Given the description of an element on the screen output the (x, y) to click on. 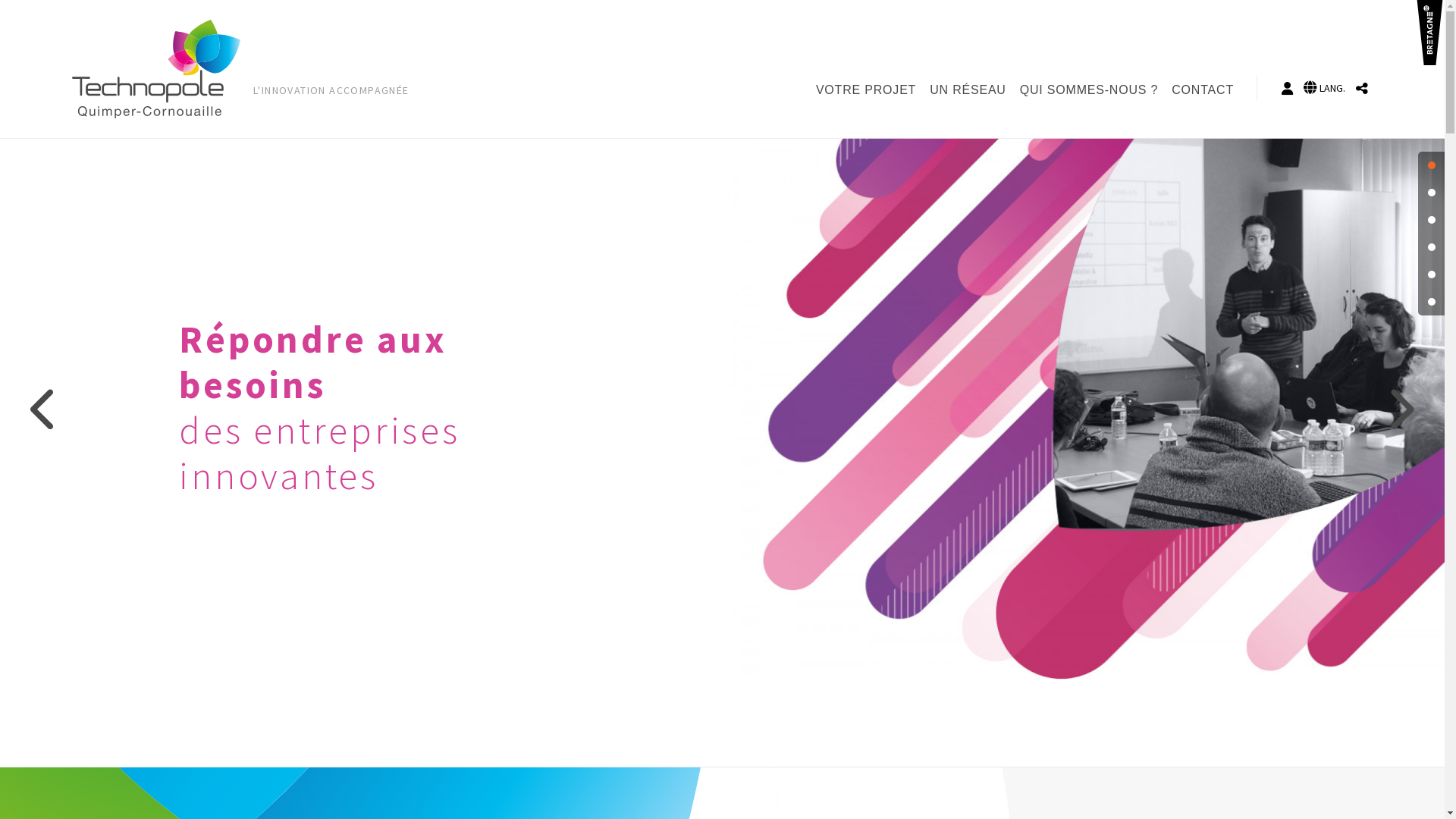
CONTACT Element type: text (1205, 89)
VOTRE PROJET Element type: text (868, 89)
S'identifier Element type: hover (1287, 87)
QUI SOMMES-NOUS ? Element type: text (1091, 89)
LANG. Element type: text (1324, 87)
Partager Element type: hover (1361, 87)
